Given the description of an element on the screen output the (x, y) to click on. 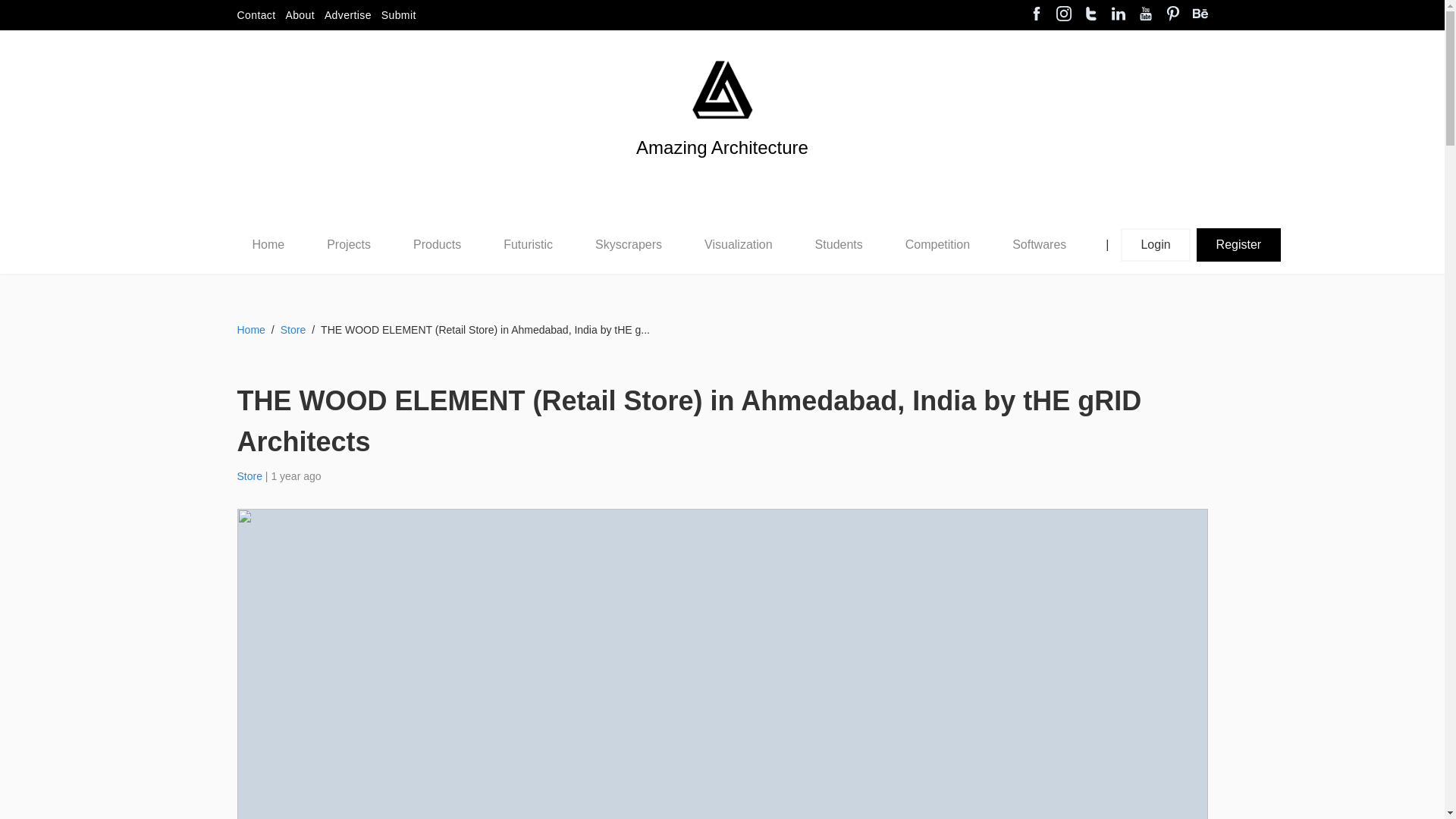
Amazing Architecture (722, 173)
follow us on pinterest (1171, 14)
About us page (299, 15)
Projects (348, 244)
Products (437, 244)
Projects (348, 245)
Submit page (398, 15)
Projects (348, 244)
subscribe to our youtube channel (1145, 14)
Home (267, 245)
facebook page (1035, 14)
Amazing Architecture (721, 88)
follow us on twitter (1090, 14)
About (299, 15)
follow us on instagram (1062, 14)
